Given the description of an element on the screen output the (x, y) to click on. 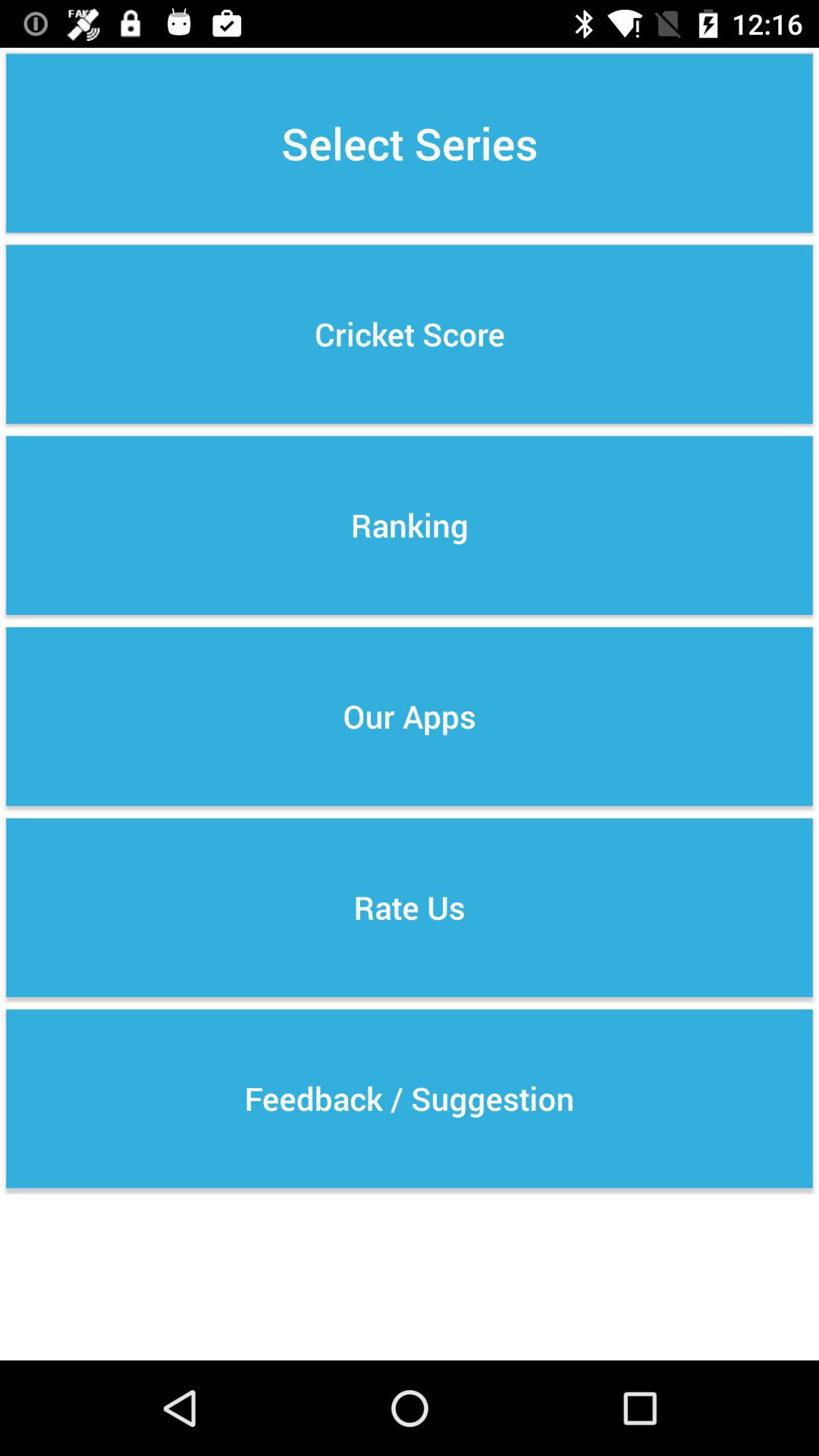
open rate us button (409, 907)
